Given the description of an element on the screen output the (x, y) to click on. 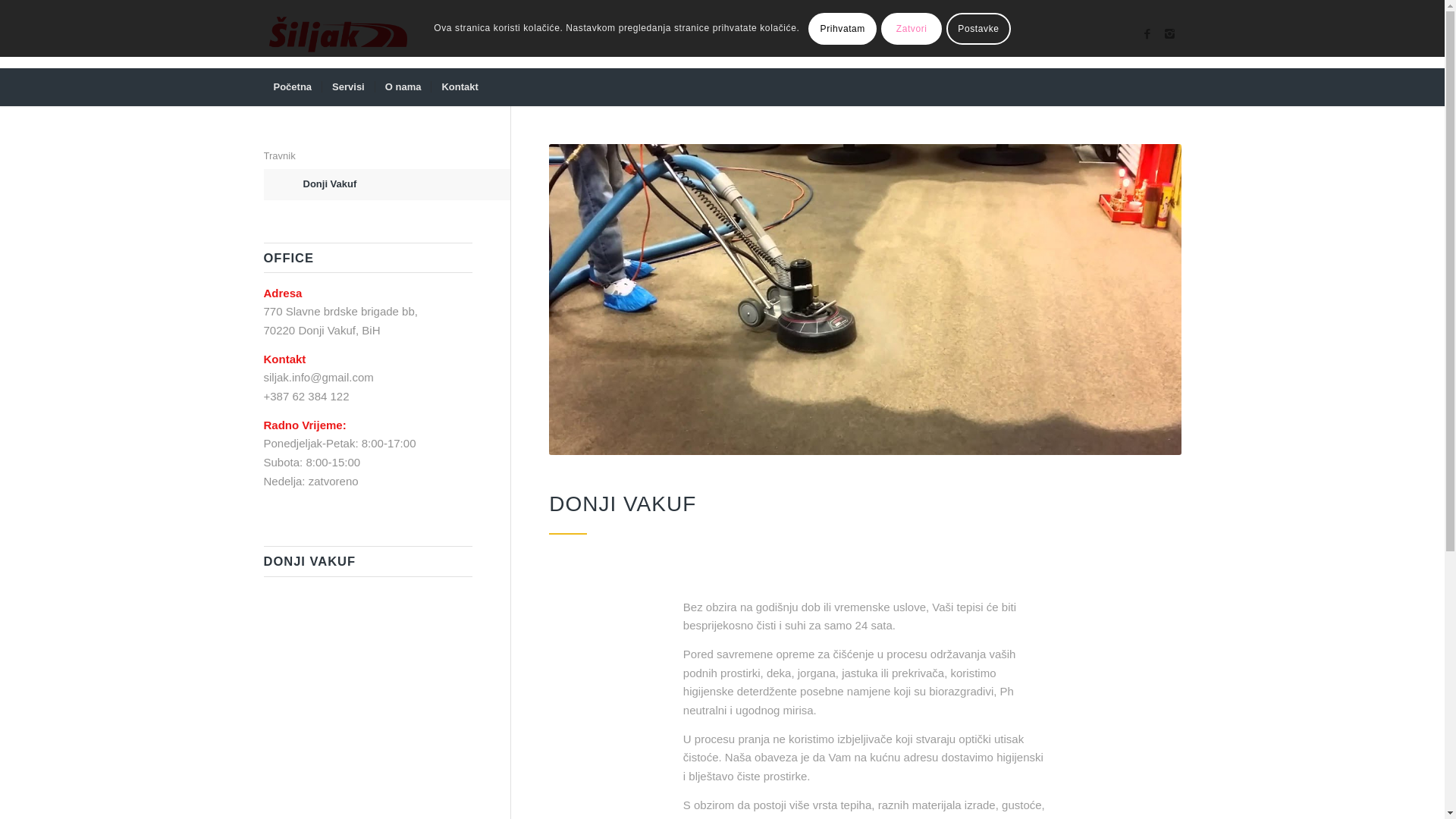
Zatvori Element type: text (911, 27)
Donji Vakuf Element type: text (407, 184)
Instagram Element type: hover (1169, 33)
Travnik Element type: text (368, 156)
Servisi Element type: text (347, 87)
siljak test 2 Element type: hover (864, 299)
Prihvatam Element type: text (842, 27)
Postavke Element type: text (978, 27)
Kontakt Element type: text (458, 87)
O nama Element type: text (402, 87)
Facebook Element type: hover (1146, 33)
